Given the description of an element on the screen output the (x, y) to click on. 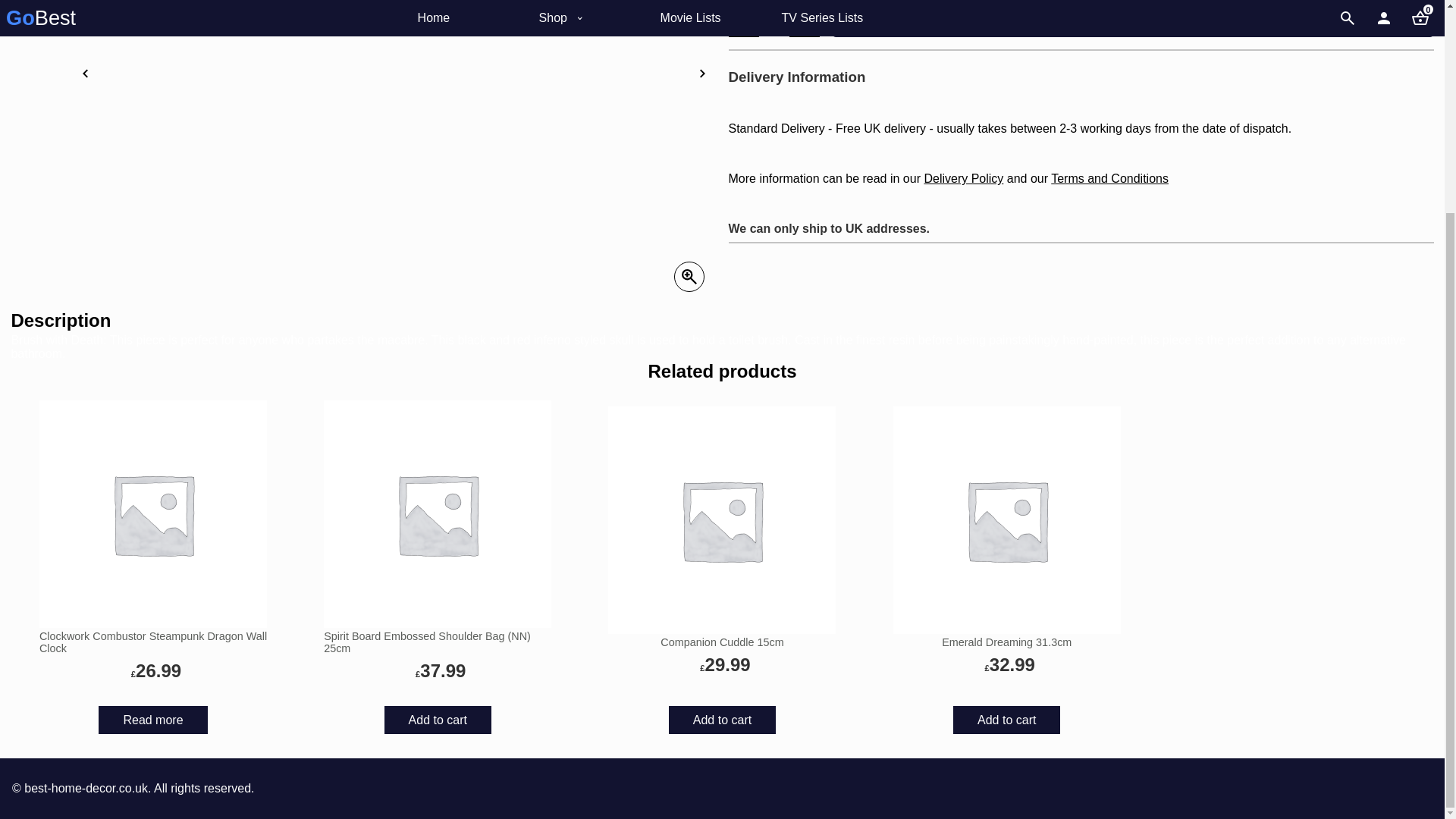
Terms and Conditions (1110, 178)
1 (773, 21)
Add to cart (1006, 719)
Add to cart (722, 719)
Delivery Policy (963, 178)
Add to cart (438, 719)
ADD TO CART (1131, 21)
Read more (152, 719)
